Given the description of an element on the screen output the (x, y) to click on. 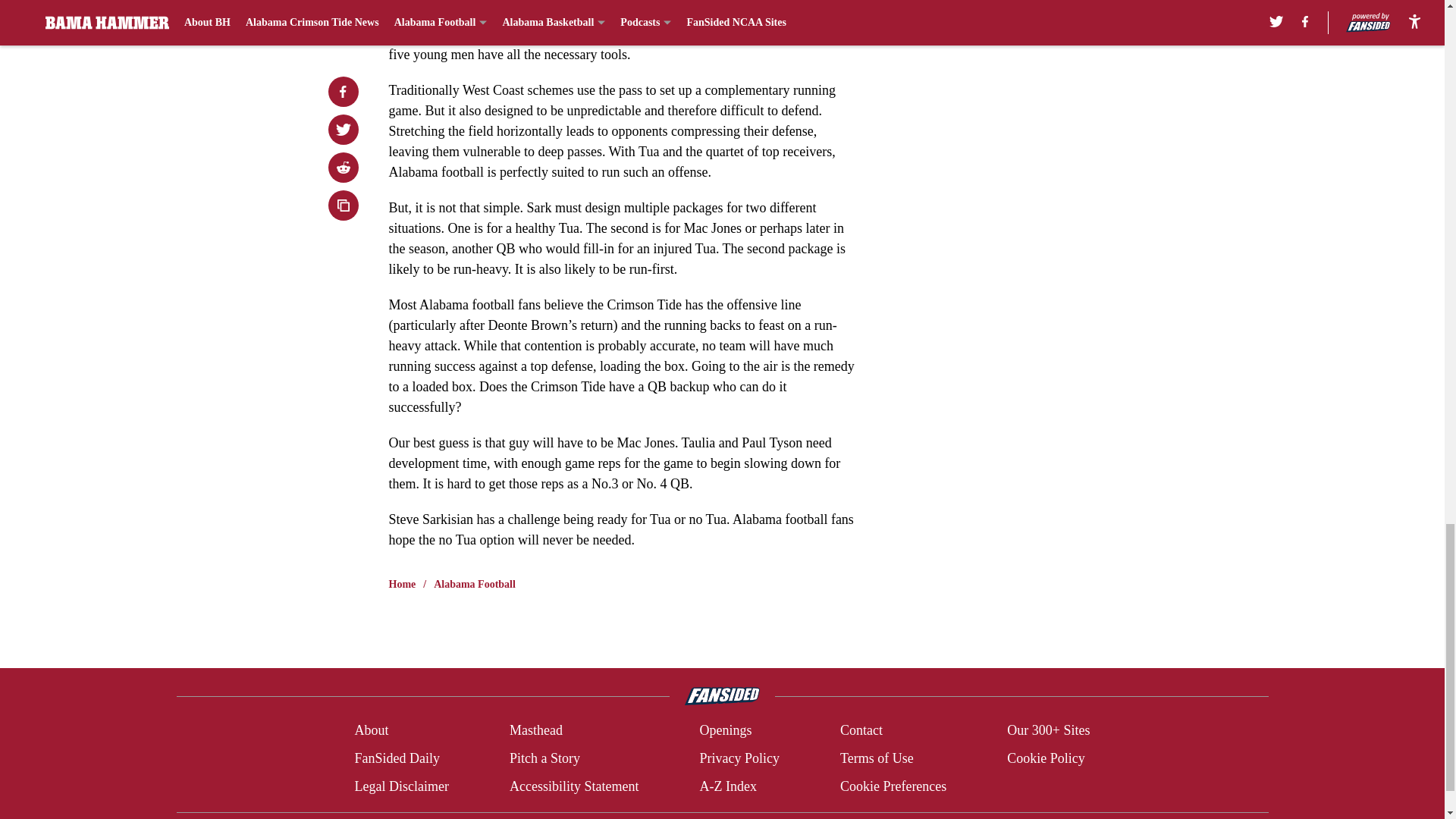
Alabama Football (474, 584)
Masthead (535, 730)
Home (401, 584)
Cookie Preferences (893, 786)
Privacy Policy (738, 758)
Pitch a Story (544, 758)
Openings (724, 730)
About (370, 730)
Contact (861, 730)
Accessibility Statement (574, 786)
Cookie Policy (1045, 758)
Terms of Use (877, 758)
Legal Disclaimer (400, 786)
FanSided Daily (396, 758)
A-Z Index (726, 786)
